Given the description of an element on the screen output the (x, y) to click on. 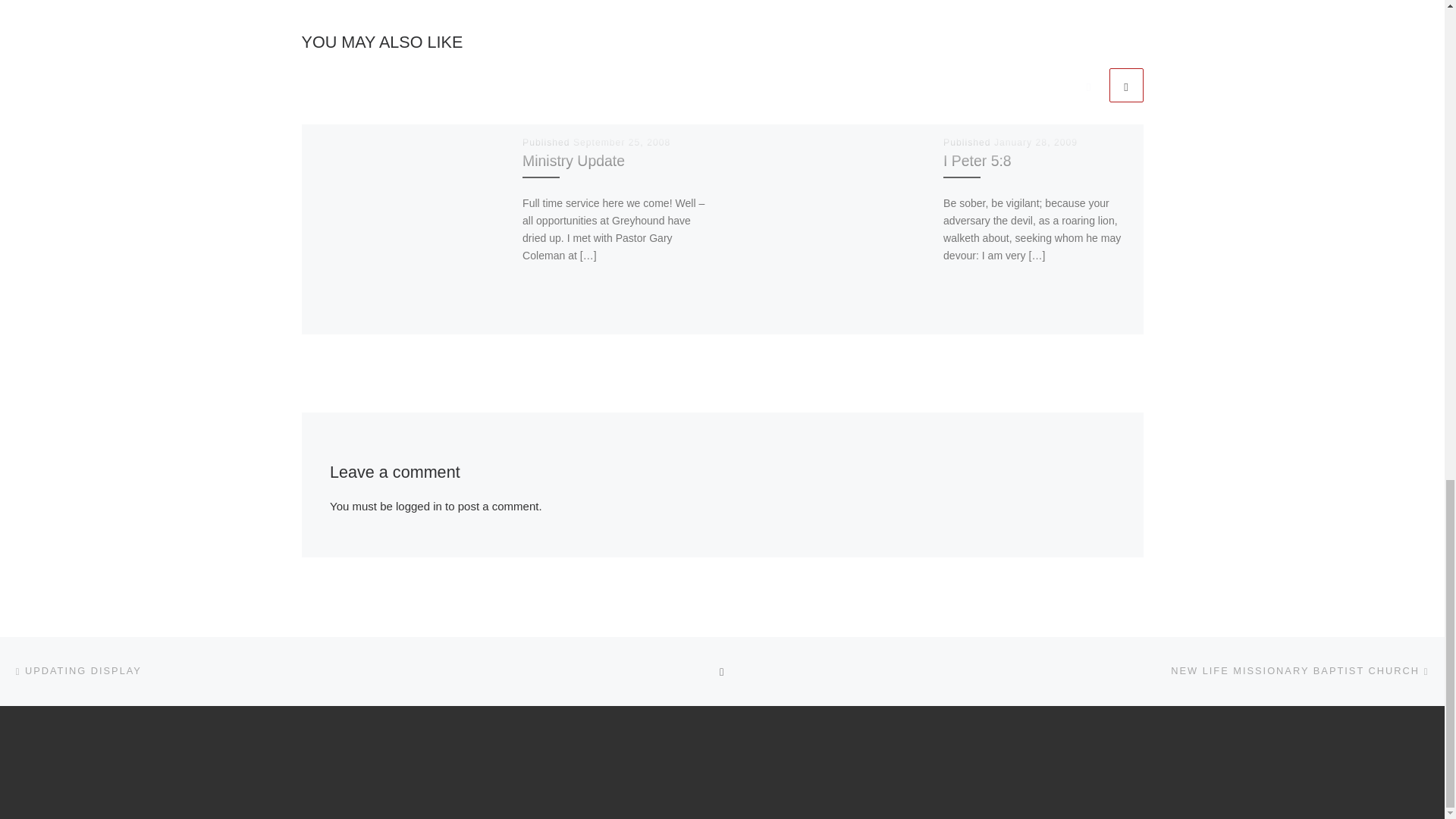
Previous related articles (1088, 84)
Next related articles (1125, 84)
